Given the description of an element on the screen output the (x, y) to click on. 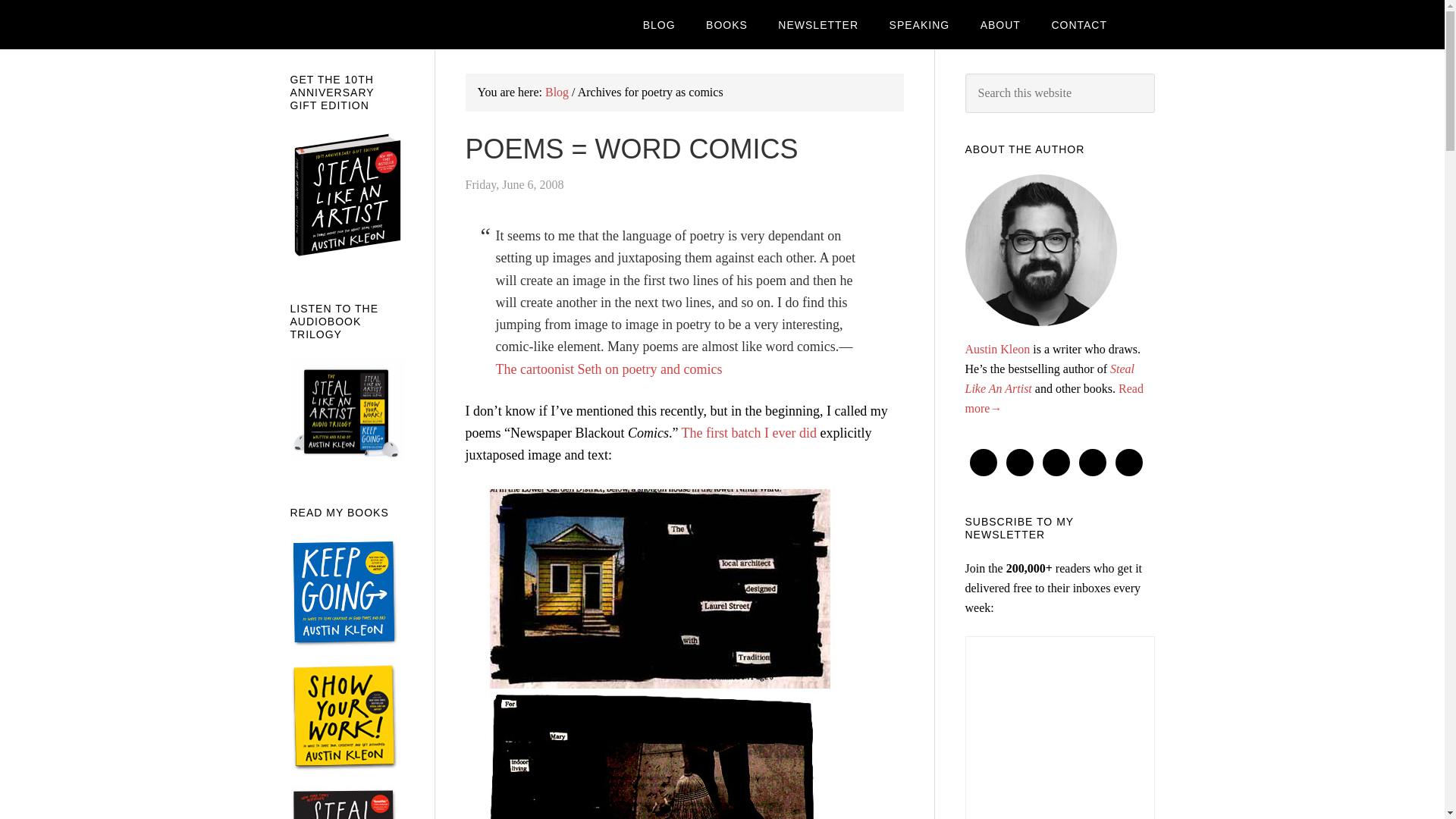
Steal Like An Artist (1048, 378)
CONTACT (1078, 24)
Austin Kleon (996, 349)
BOOKS (727, 24)
BLOG (658, 24)
The cartoonist Seth on poetry and comics (609, 368)
Read my books (727, 24)
ABOUT (999, 24)
